Given the description of an element on the screen output the (x, y) to click on. 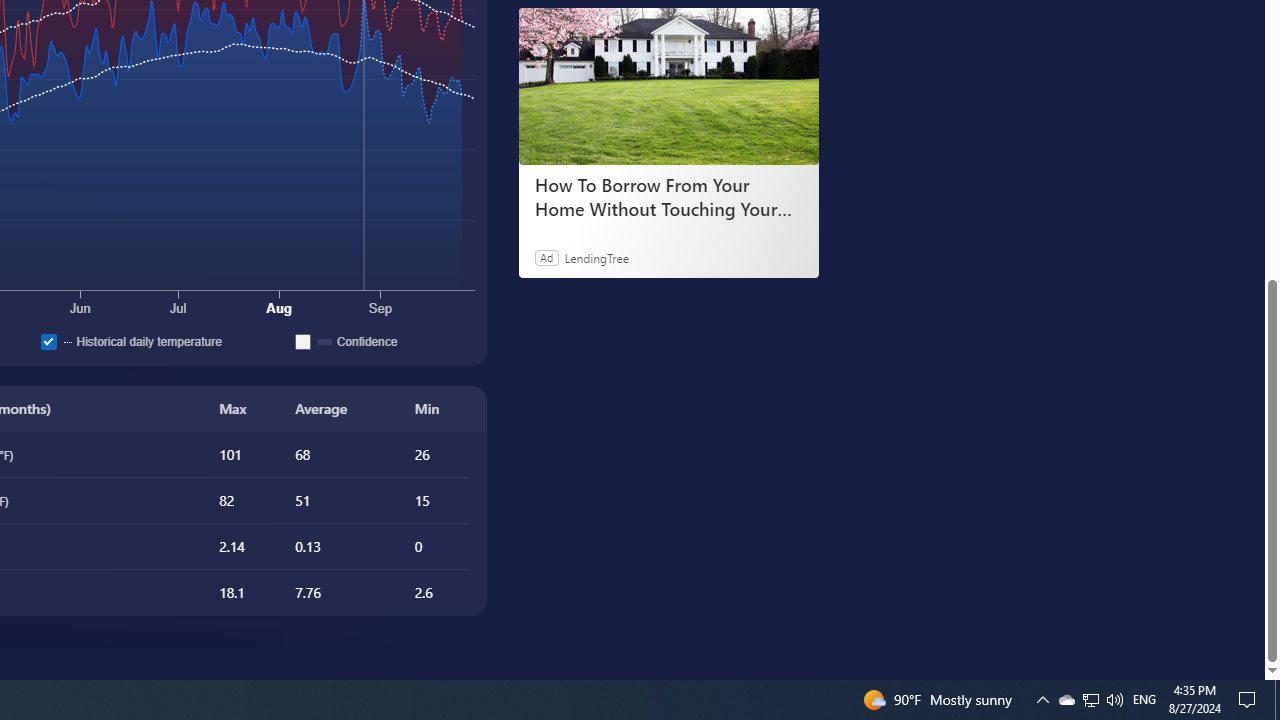
Action Center, No new notifications (1250, 699)
Tray Input Indicator - English (United States) (1066, 699)
Show desktop (1144, 699)
Q2790: 100% (1277, 699)
Notification Chevron (1114, 699)
User Promoted Notification Area (1091, 699)
